Given the description of an element on the screen output the (x, y) to click on. 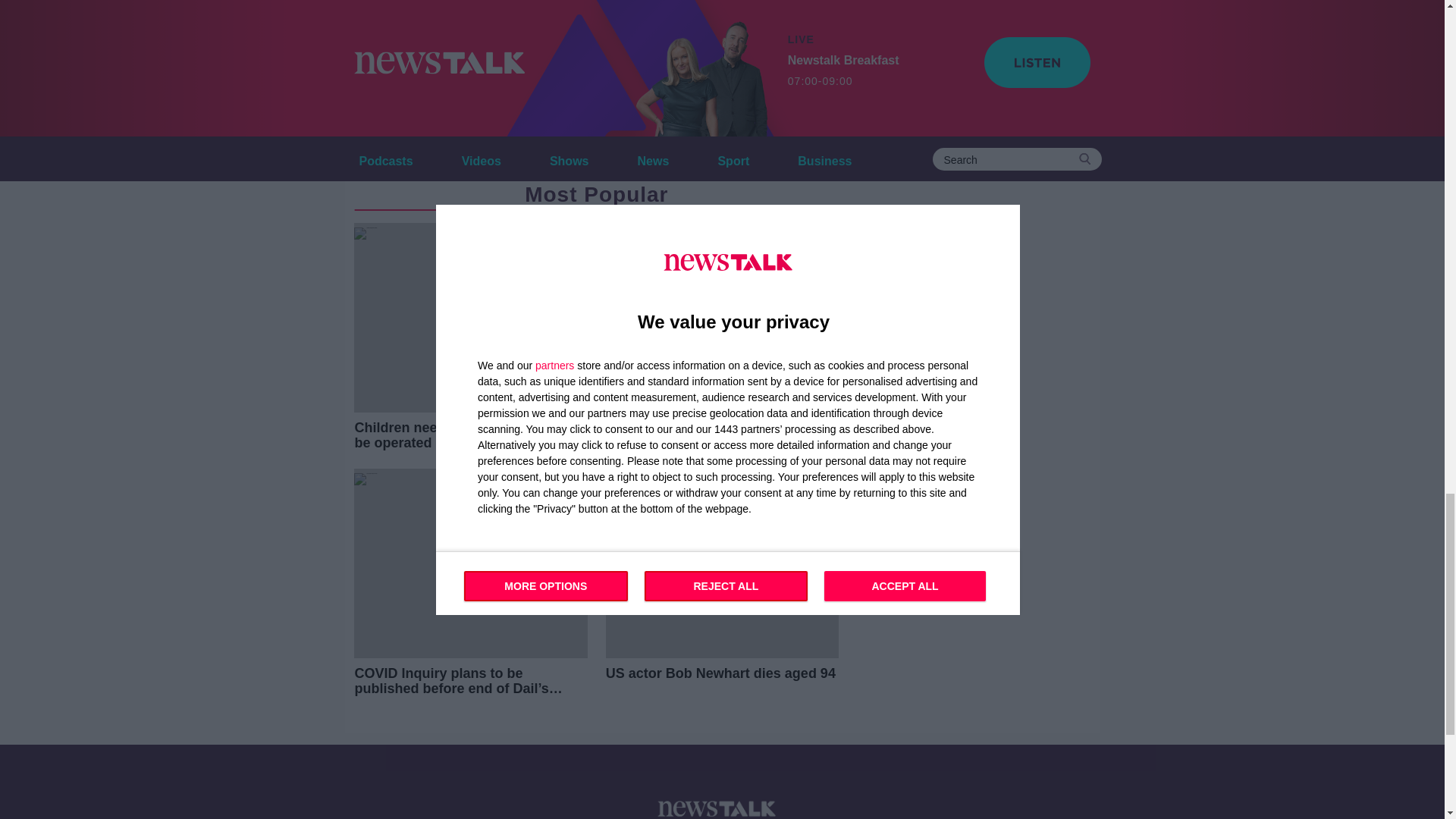
GUINNESS SIX NATIONS (423, 126)
MURRAYFIELD (553, 126)
